Given the description of an element on the screen output the (x, y) to click on. 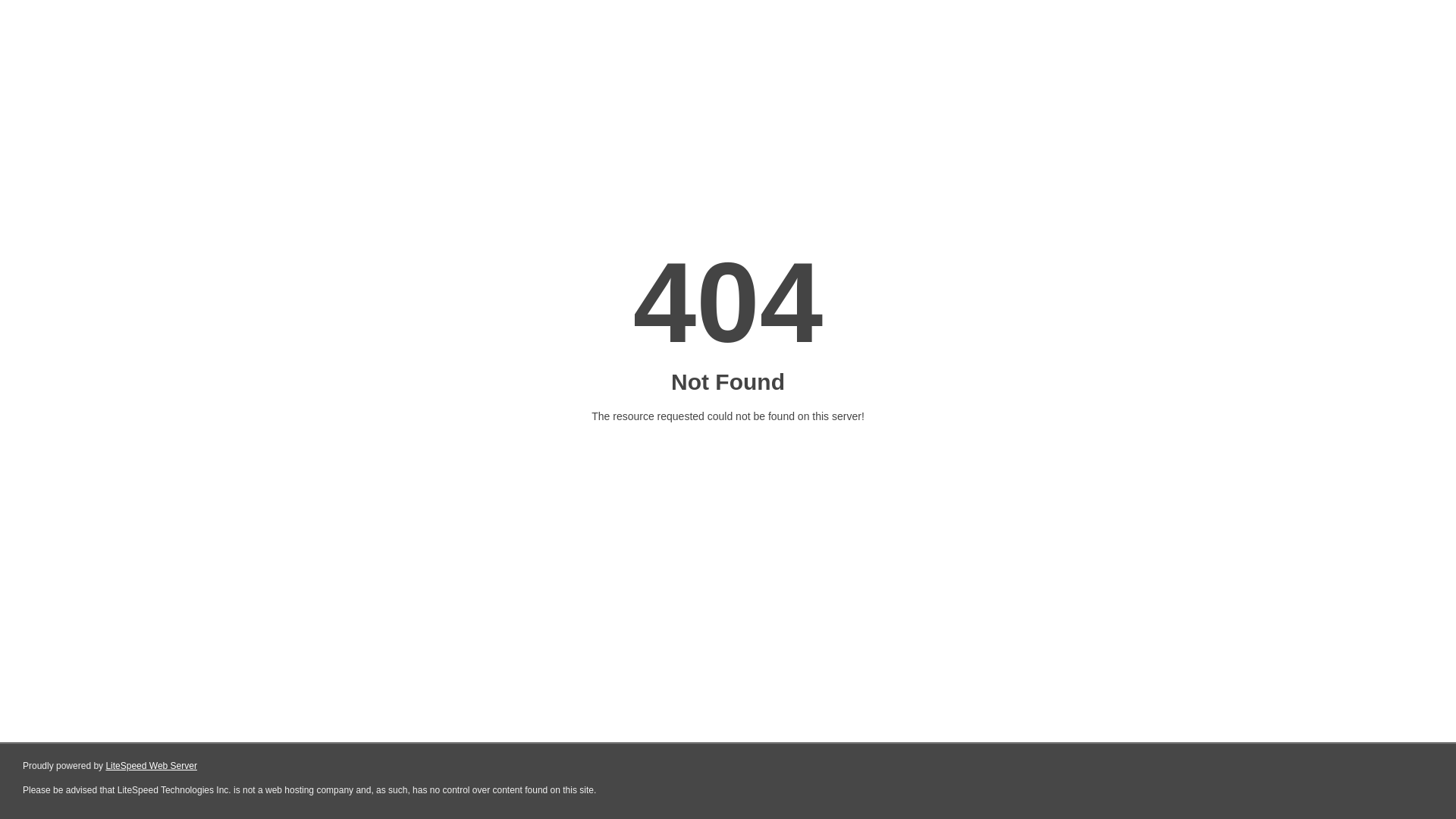
LiteSpeed Web Server Element type: text (151, 765)
